Given the description of an element on the screen output the (x, y) to click on. 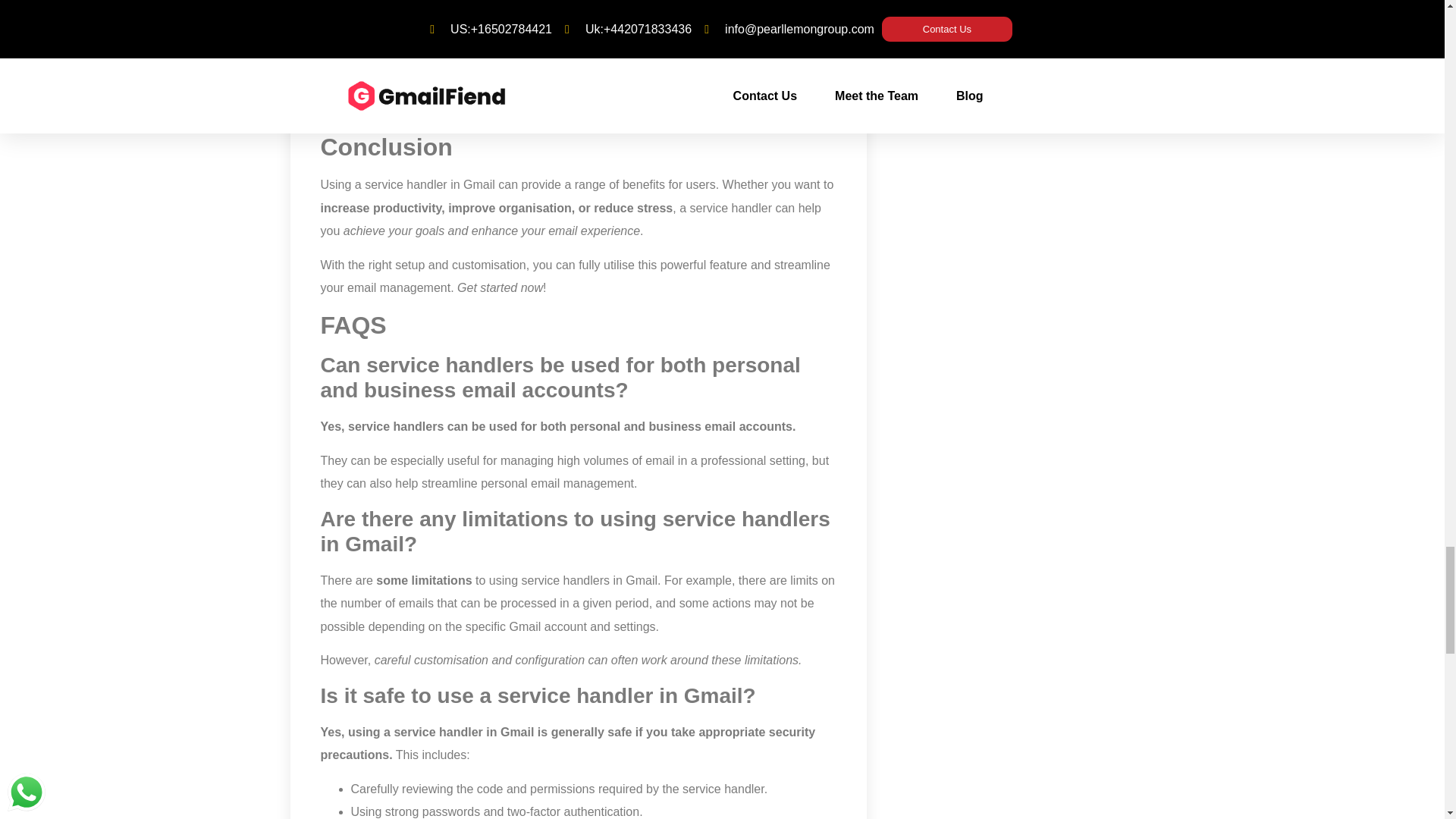
Service Handler Gmail (577, 60)
